Given the description of an element on the screen output the (x, y) to click on. 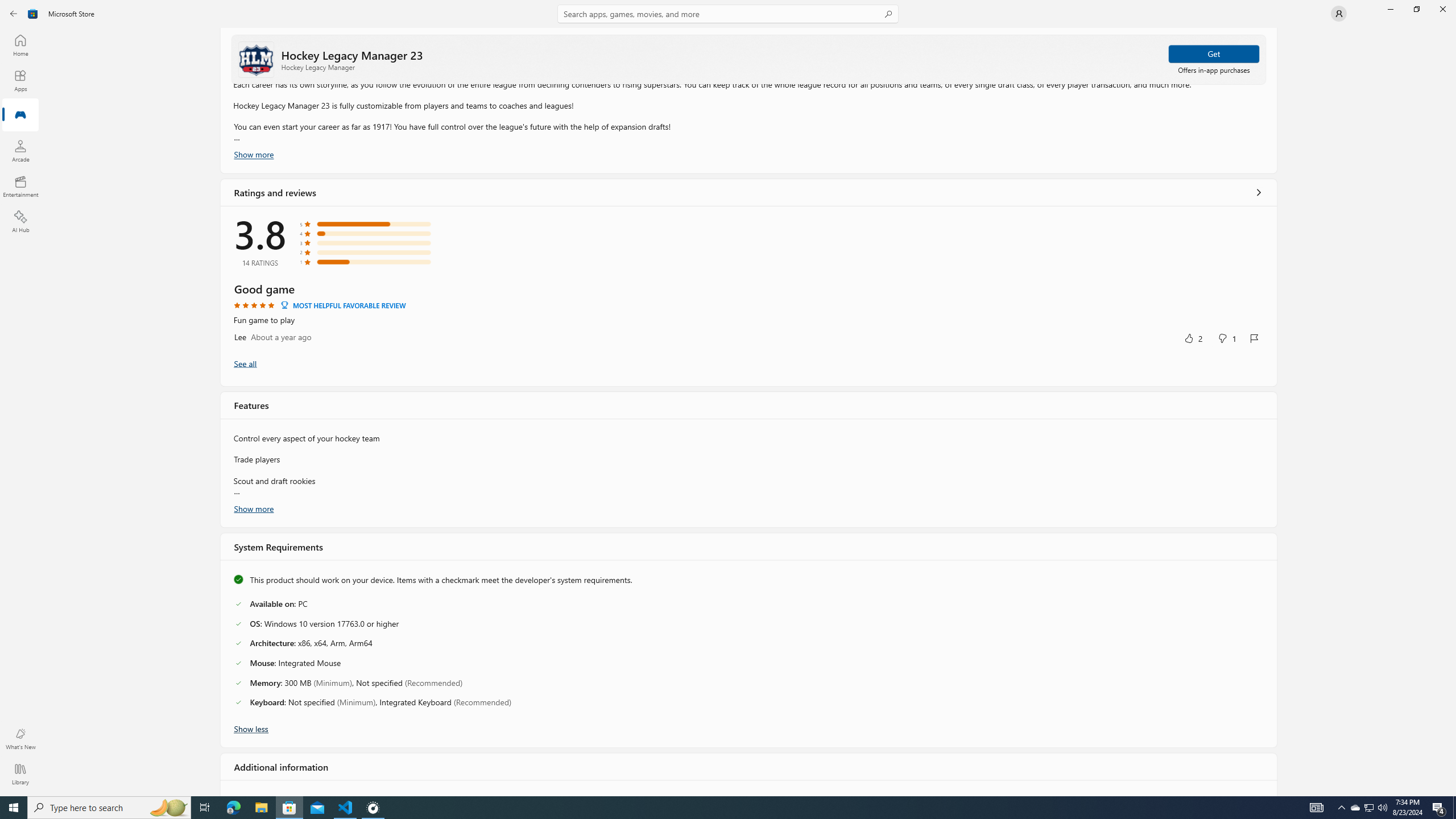
Home (20, 45)
Review by Lee. Rated 5 out of five stars. Good game. (748, 313)
Close Microsoft Store (1442, 9)
Arcade (20, 150)
Restore Microsoft Store (1416, 9)
AutomationID: NavigationControl (728, 398)
Yes, this was helpful. 2 votes. (1192, 338)
Entertainment (20, 185)
User profile (1338, 13)
Show less (250, 728)
What's New (20, 738)
